Given the description of an element on the screen output the (x, y) to click on. 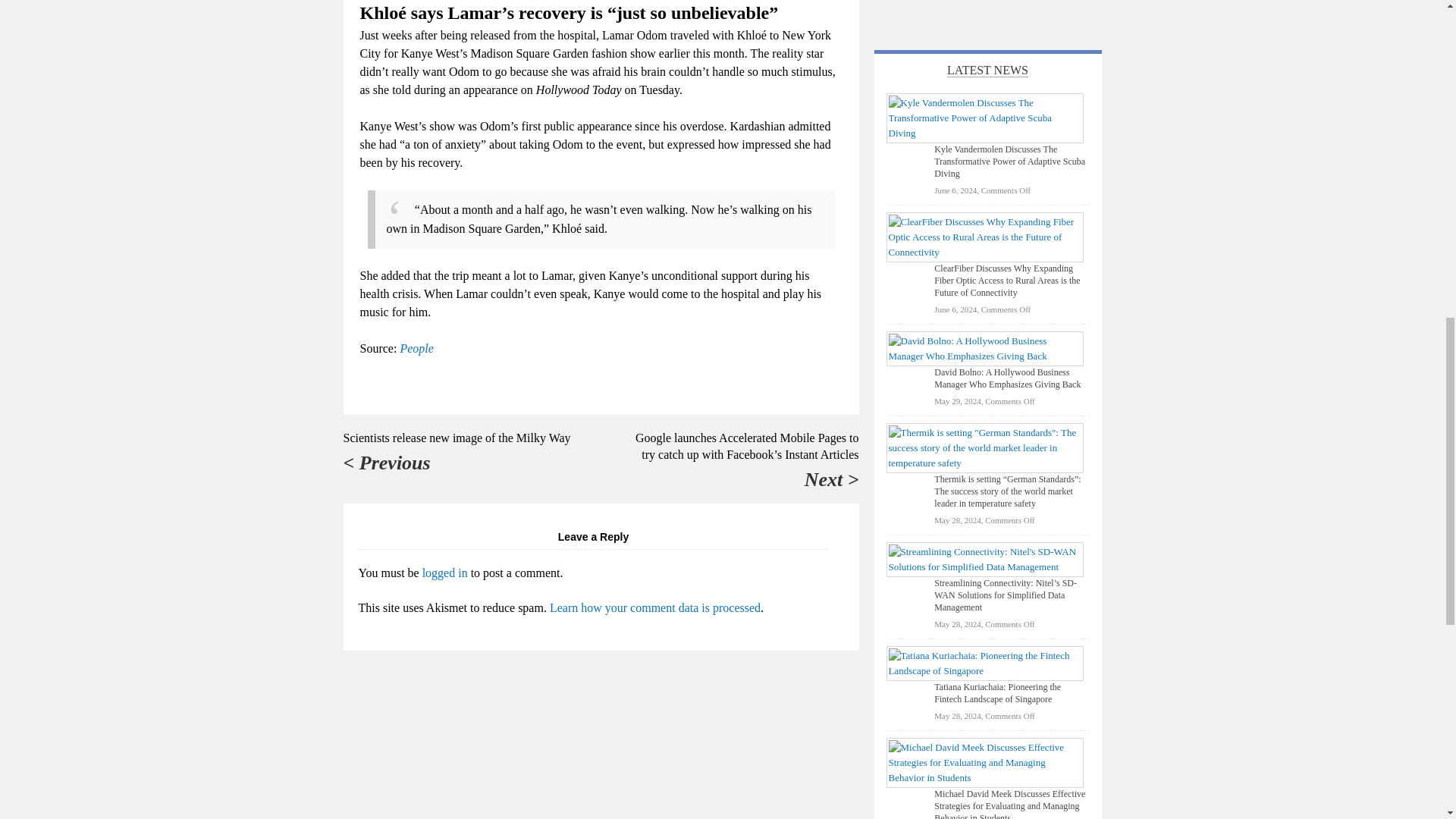
People (415, 348)
Scientists release new image of the Milky Way (456, 437)
logged in (444, 572)
Learn how your comment data is processed (655, 607)
